Given the description of an element on the screen output the (x, y) to click on. 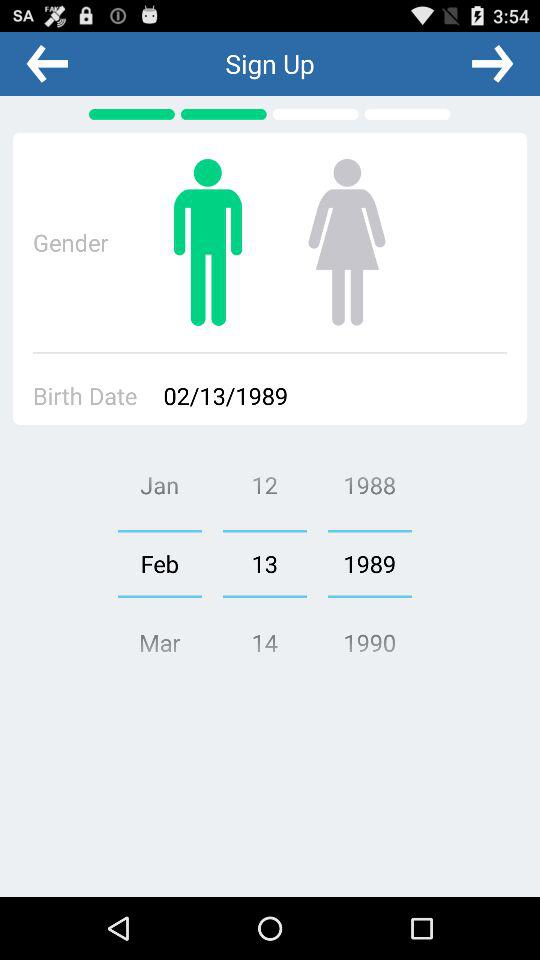
launch feb item (159, 563)
